Given the description of an element on the screen output the (x, y) to click on. 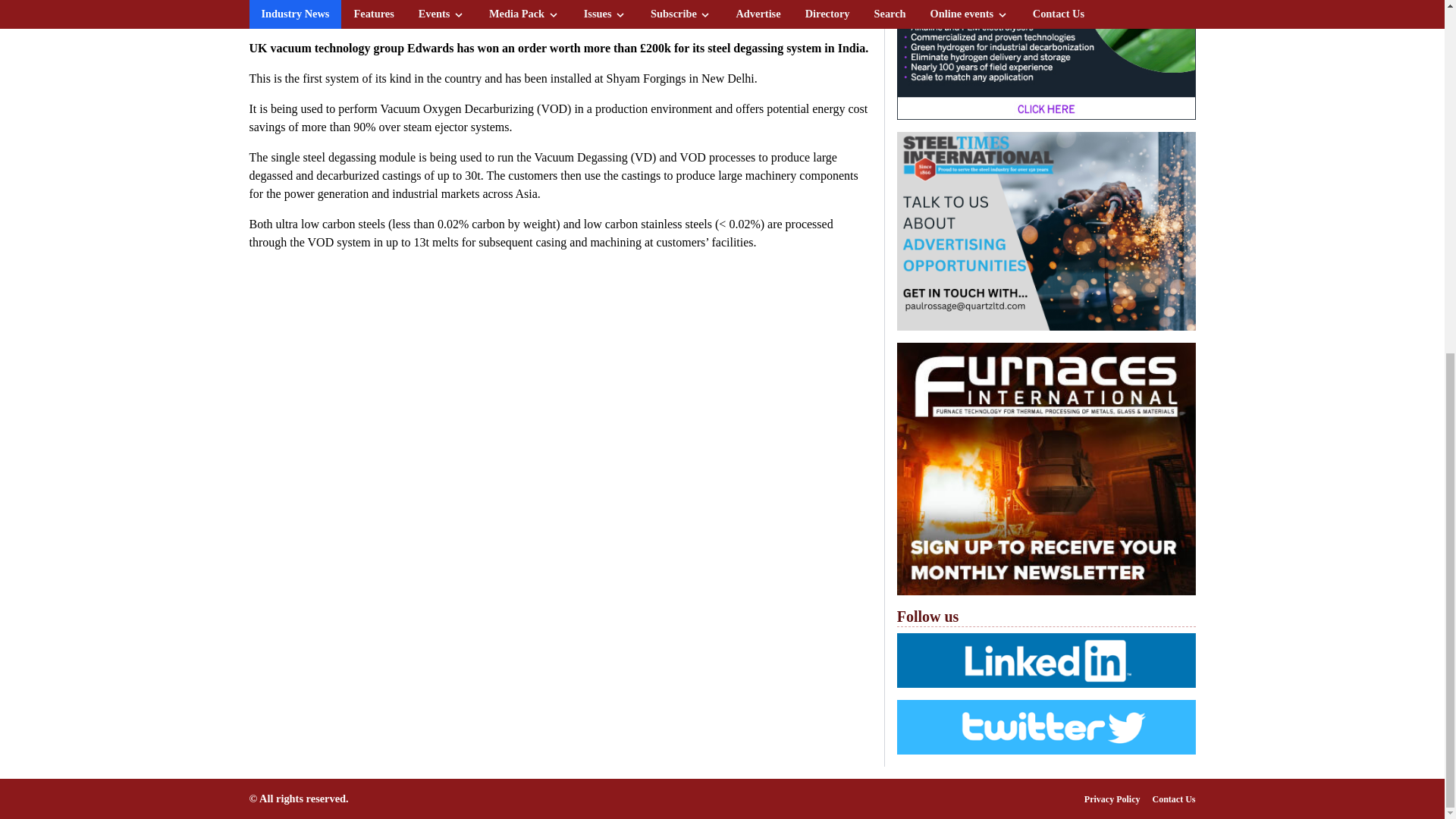
Twitter (1045, 727)
LinkedIn (1045, 660)
STI sponsorship (1045, 231)
NEL Hydrogen (1045, 59)
Furnaces International (1045, 469)
